Given the description of an element on the screen output the (x, y) to click on. 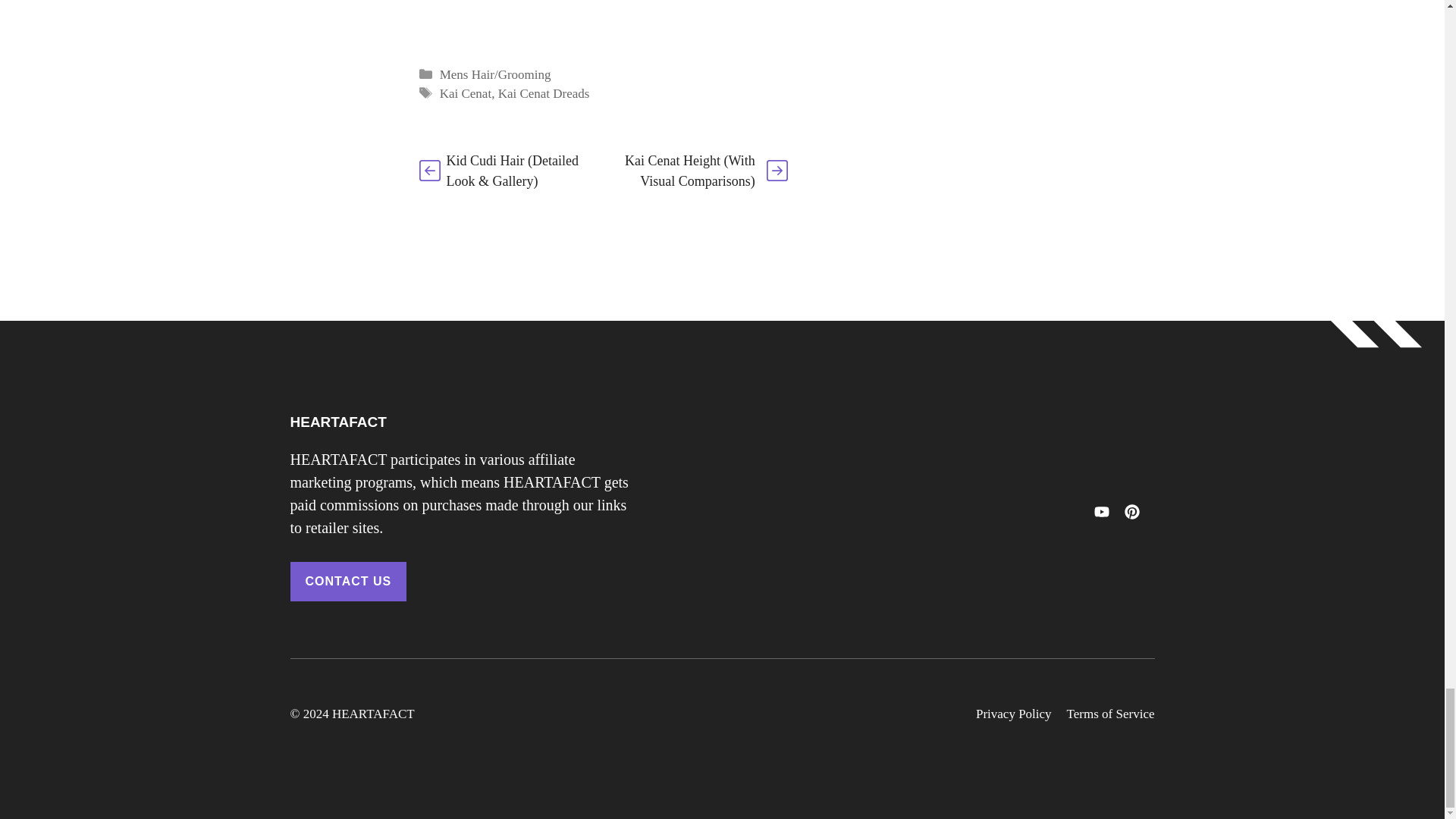
Kai Cenat (465, 93)
Terms of Service (1110, 713)
CONTACT US (347, 581)
Privacy Policy (1013, 713)
Kai Cenat Dreads (543, 93)
